Given the description of an element on the screen output the (x, y) to click on. 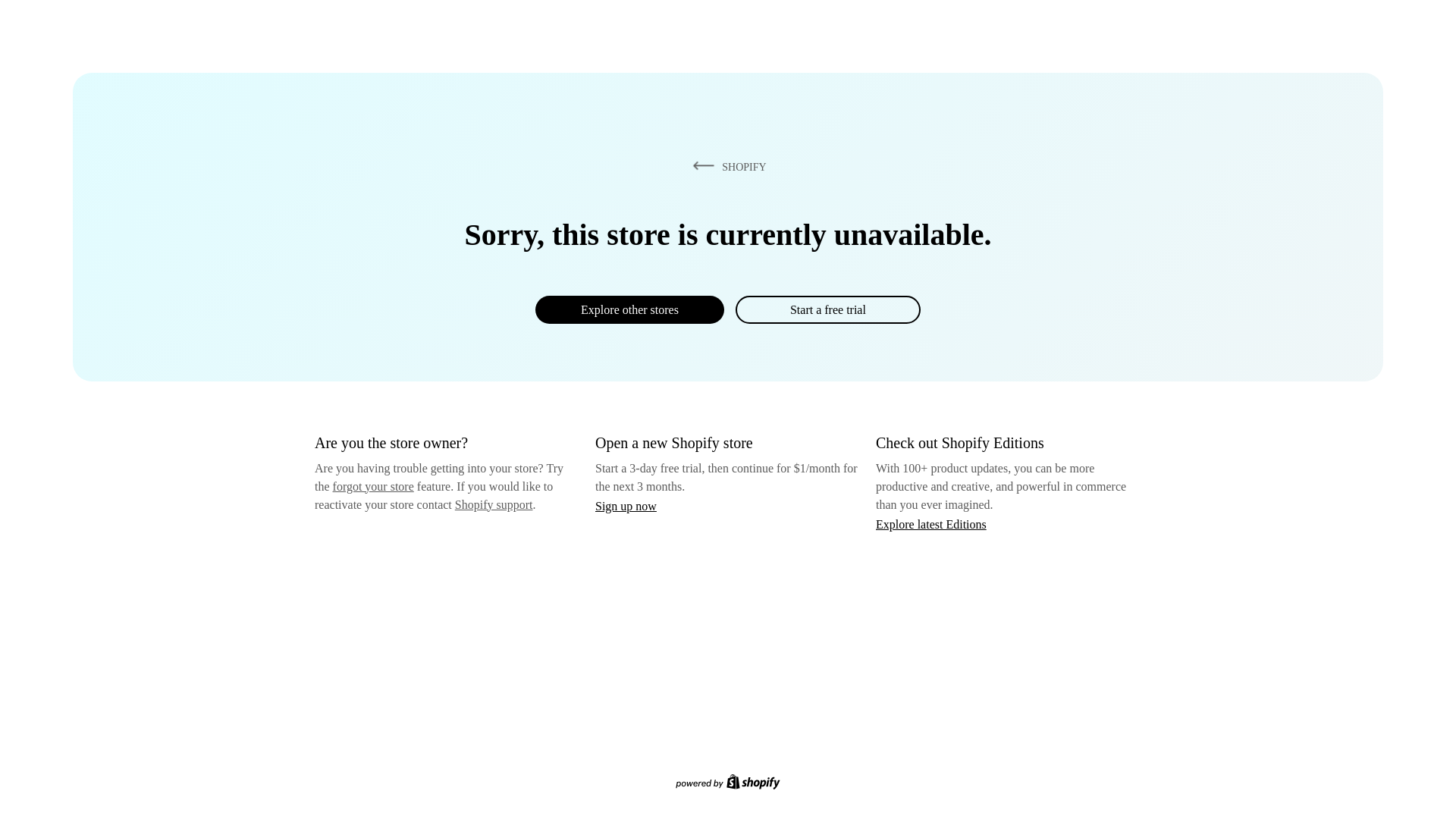
forgot your store (373, 486)
SHOPIFY (726, 166)
Shopify support (493, 504)
Explore other stores (629, 309)
Explore latest Editions (931, 523)
Sign up now (625, 505)
Start a free trial (827, 309)
